Given the description of an element on the screen output the (x, y) to click on. 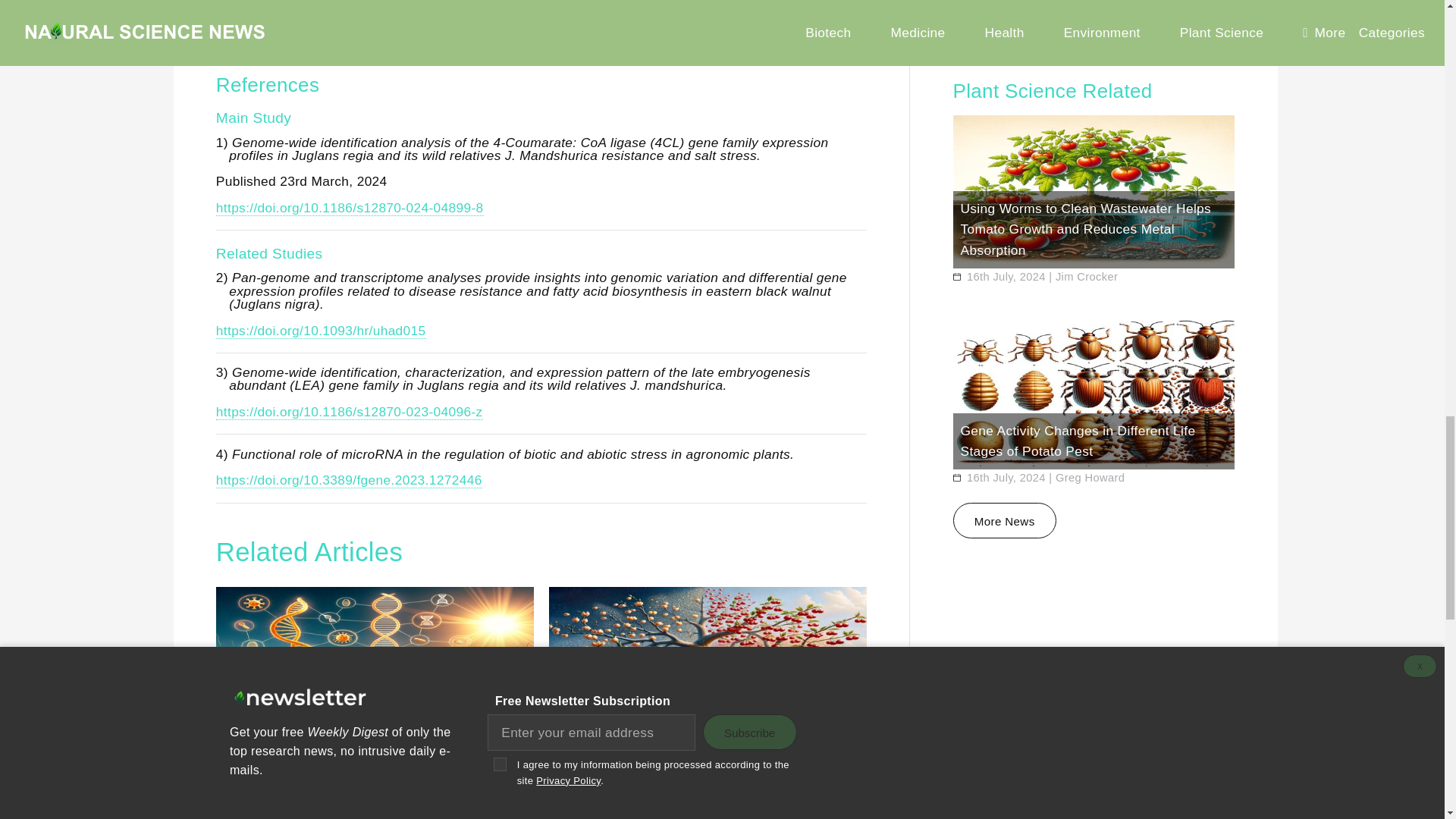
Plant Science (373, 31)
Biochem (303, 31)
Genetics (244, 31)
